Given the description of an element on the screen output the (x, y) to click on. 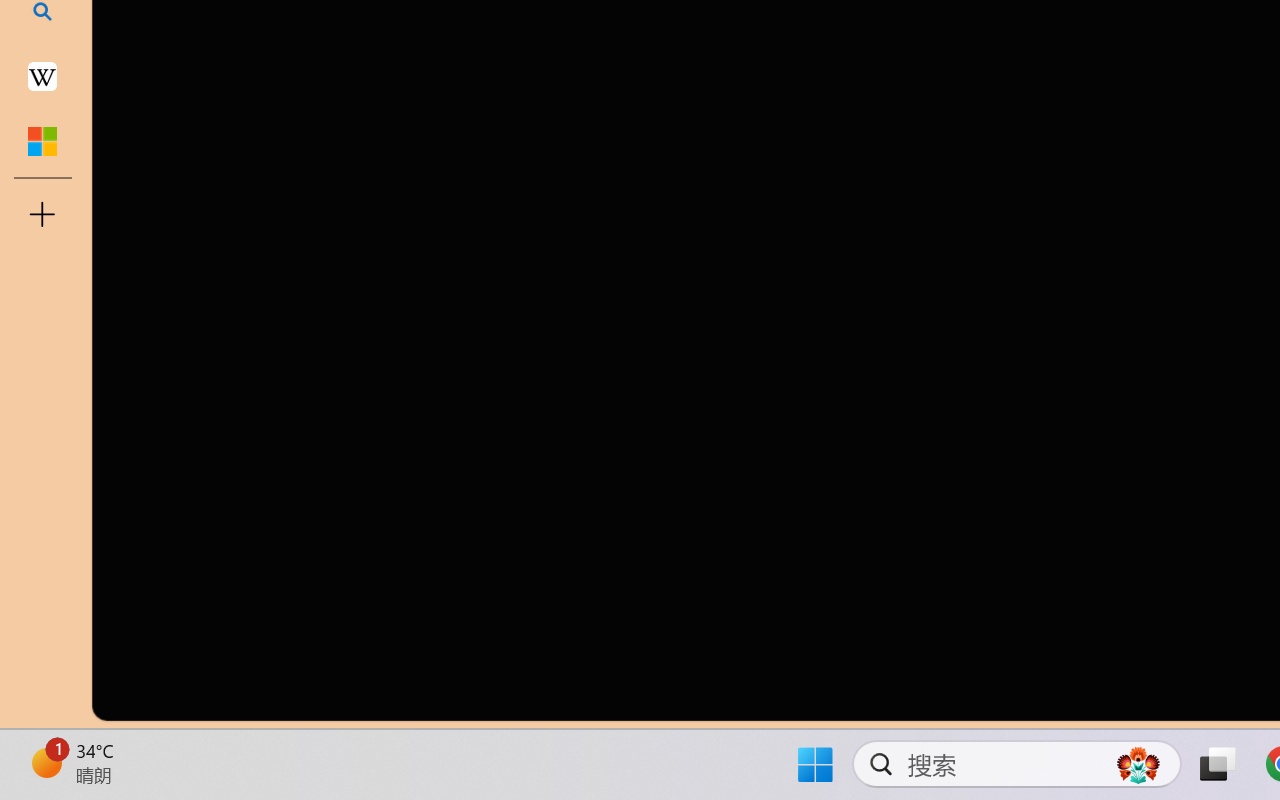
Earth - Wikipedia (42, 75)
